Given the description of an element on the screen output the (x, y) to click on. 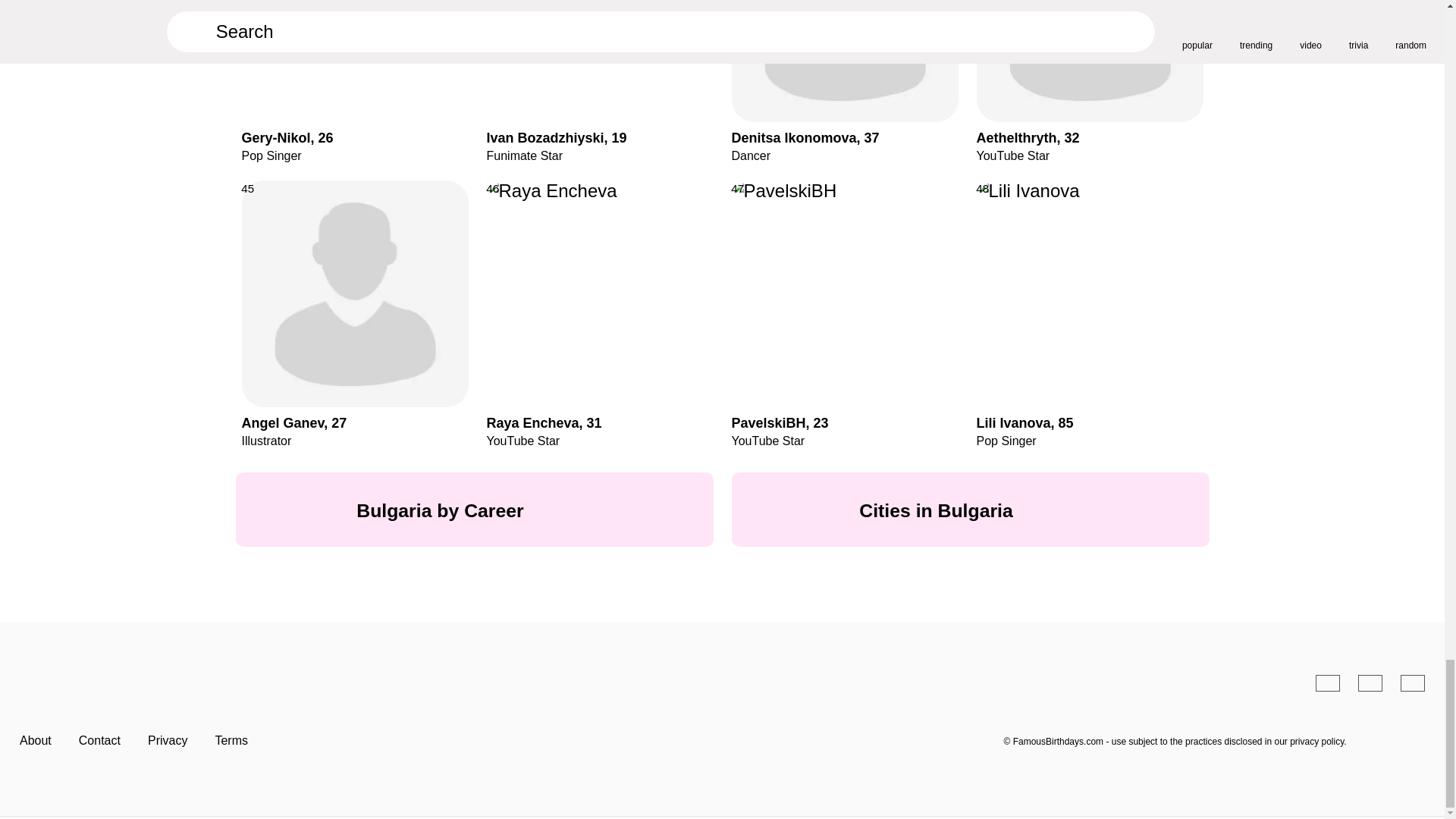
Spanish (1327, 682)
French (1412, 682)
Portuguese (1369, 682)
